Given the description of an element on the screen output the (x, y) to click on. 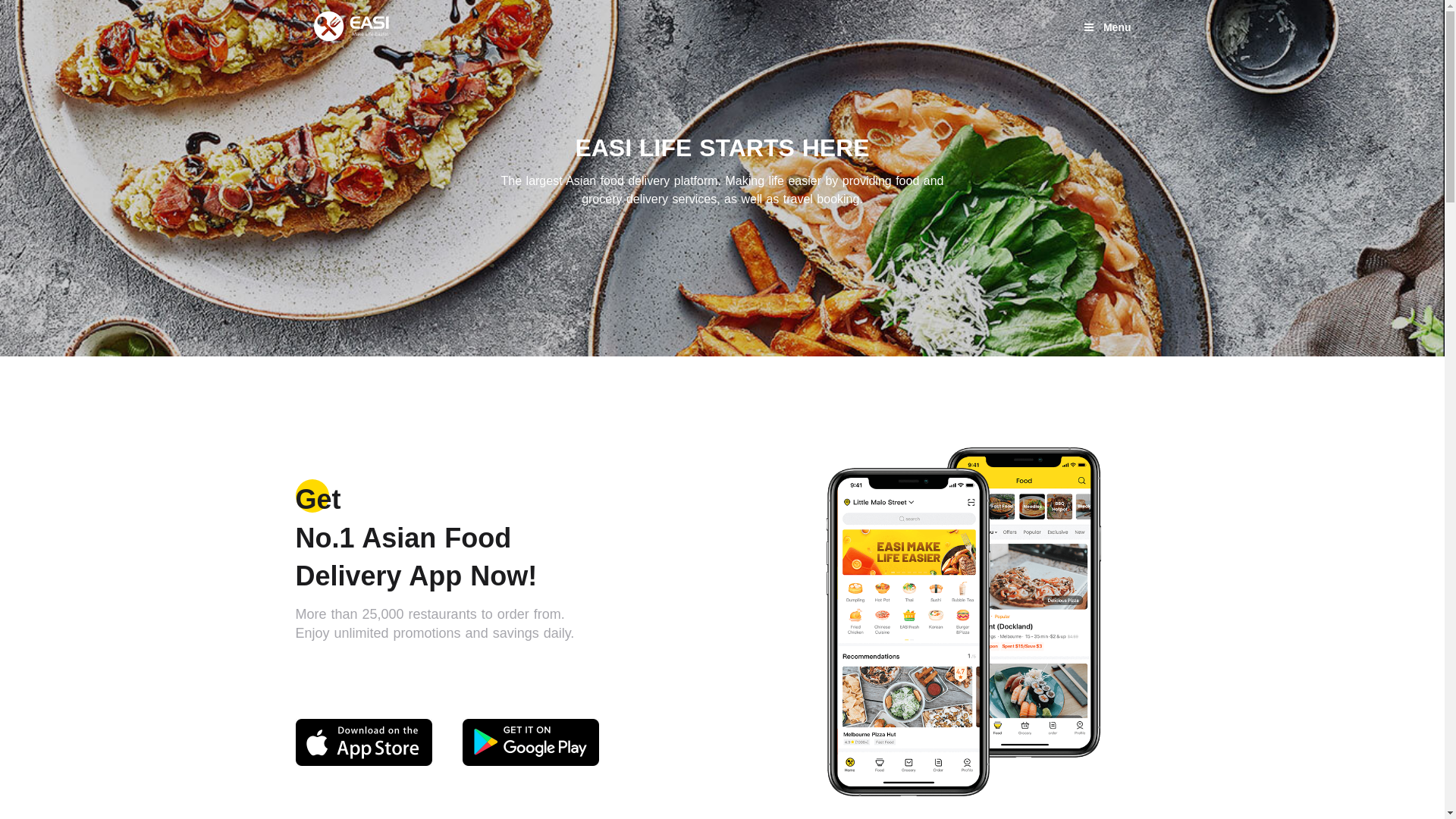
iPhone app Element type: text (363, 741)
EASI Element type: text (351, 26)
Menu Element type: text (1107, 26)
Android App Element type: text (530, 741)
